Given the description of an element on the screen output the (x, y) to click on. 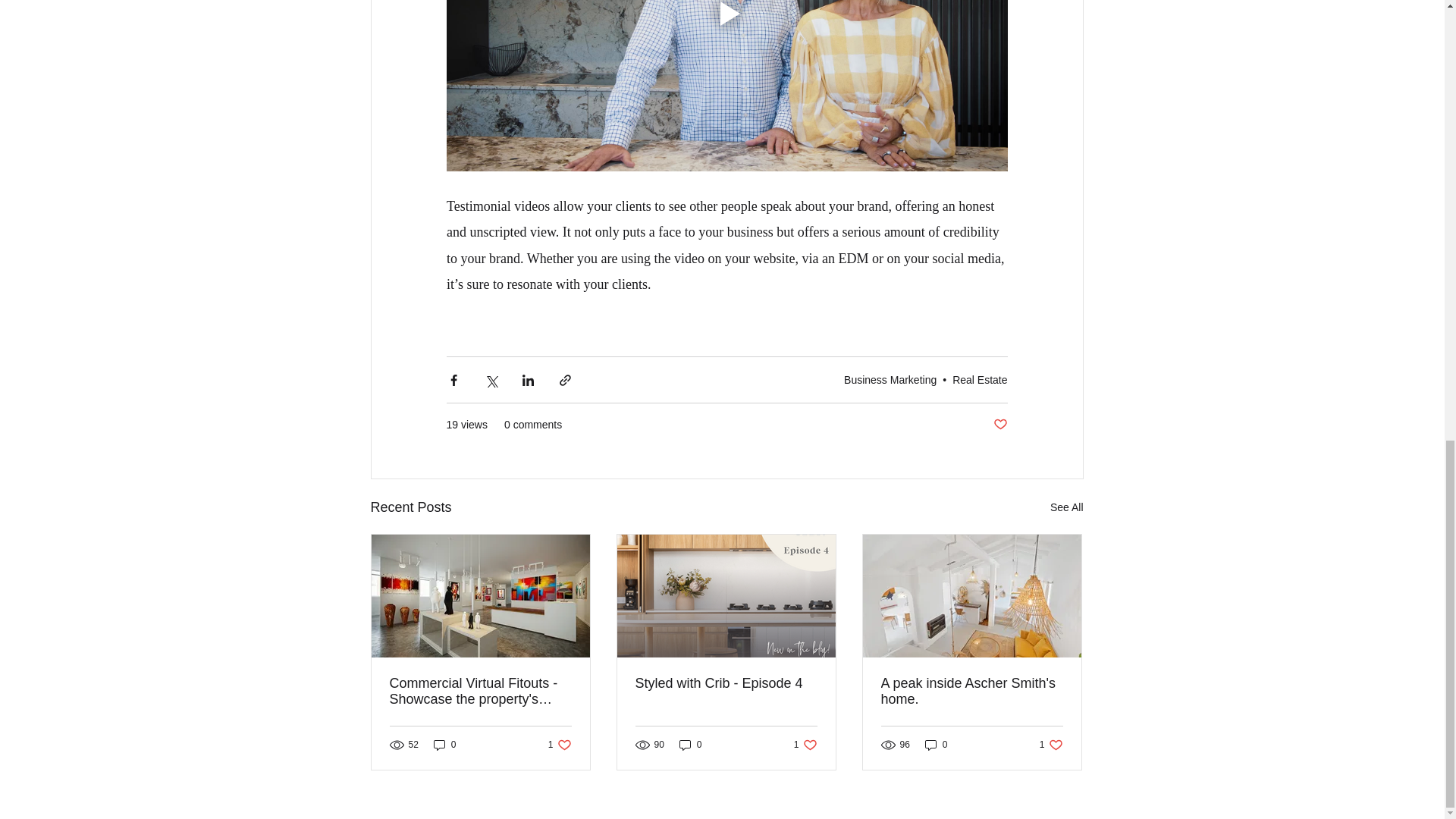
0 (804, 744)
0 (690, 744)
Styled with Crib - Episode 4 (560, 744)
A peak inside Ascher Smith's home. (445, 744)
Post not marked as liked (725, 683)
Real Estate (971, 691)
Business Marketing (999, 424)
